Given the description of an element on the screen output the (x, y) to click on. 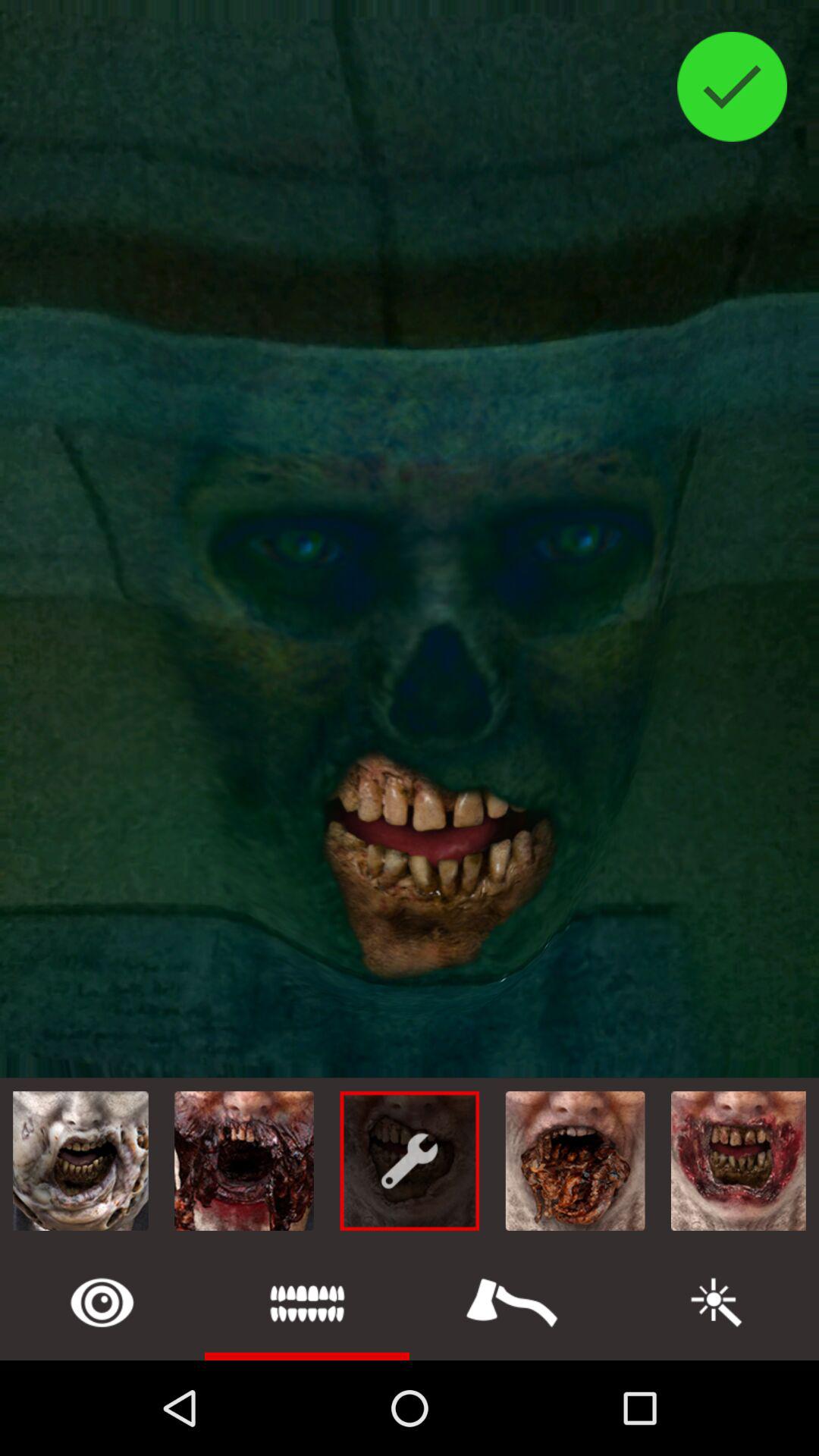
select the item (511, 1302)
